Given the description of an element on the screen output the (x, y) to click on. 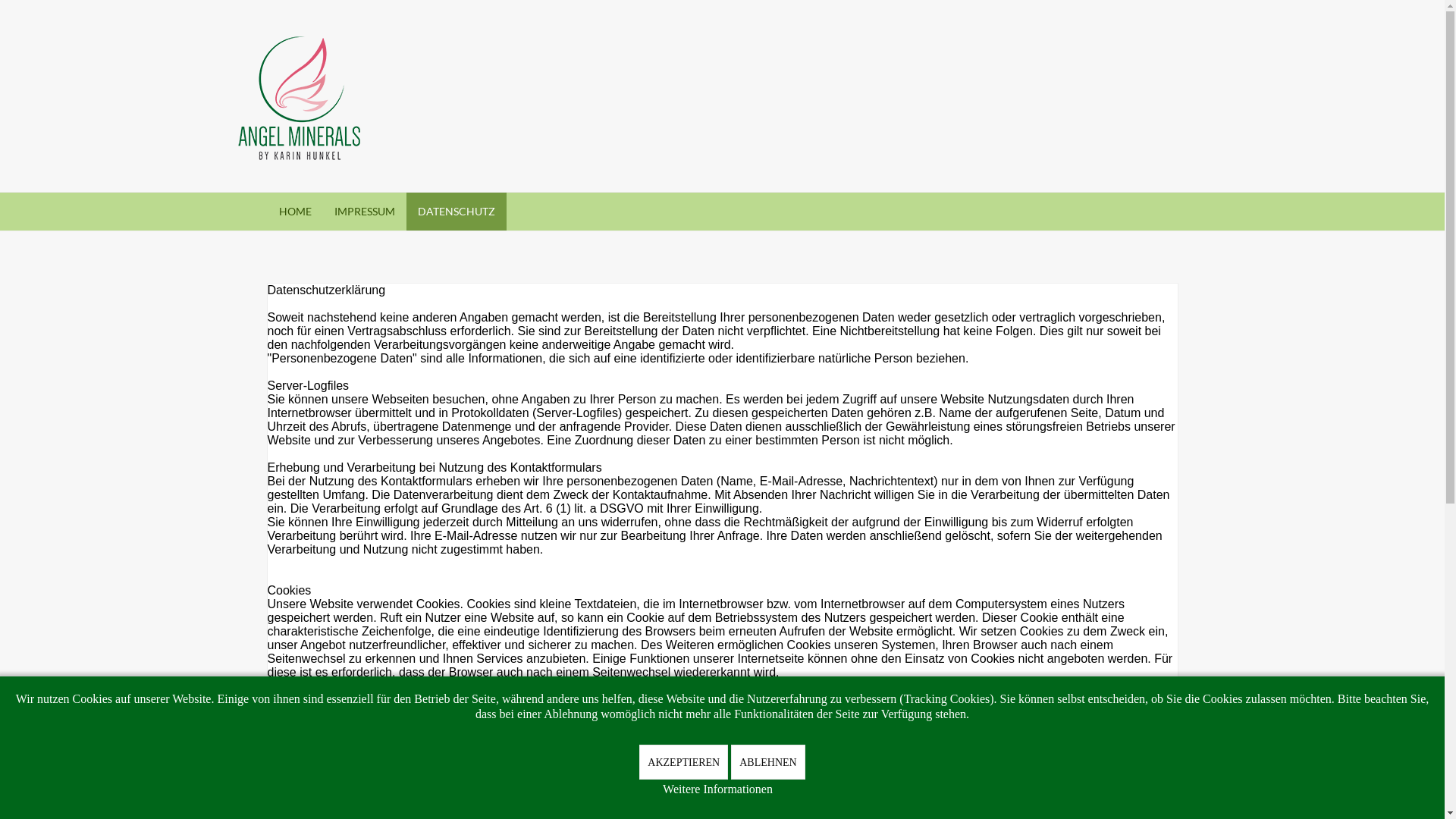
Weitere Informationen Element type: text (717, 789)
IMPRESSUM Element type: text (364, 211)
ABLEHNEN Element type: text (767, 761)
AKZEPTIEREN Element type: text (683, 761)
DATENSCHUTZ Element type: text (456, 211)
HOME Element type: text (294, 211)
